Given the description of an element on the screen output the (x, y) to click on. 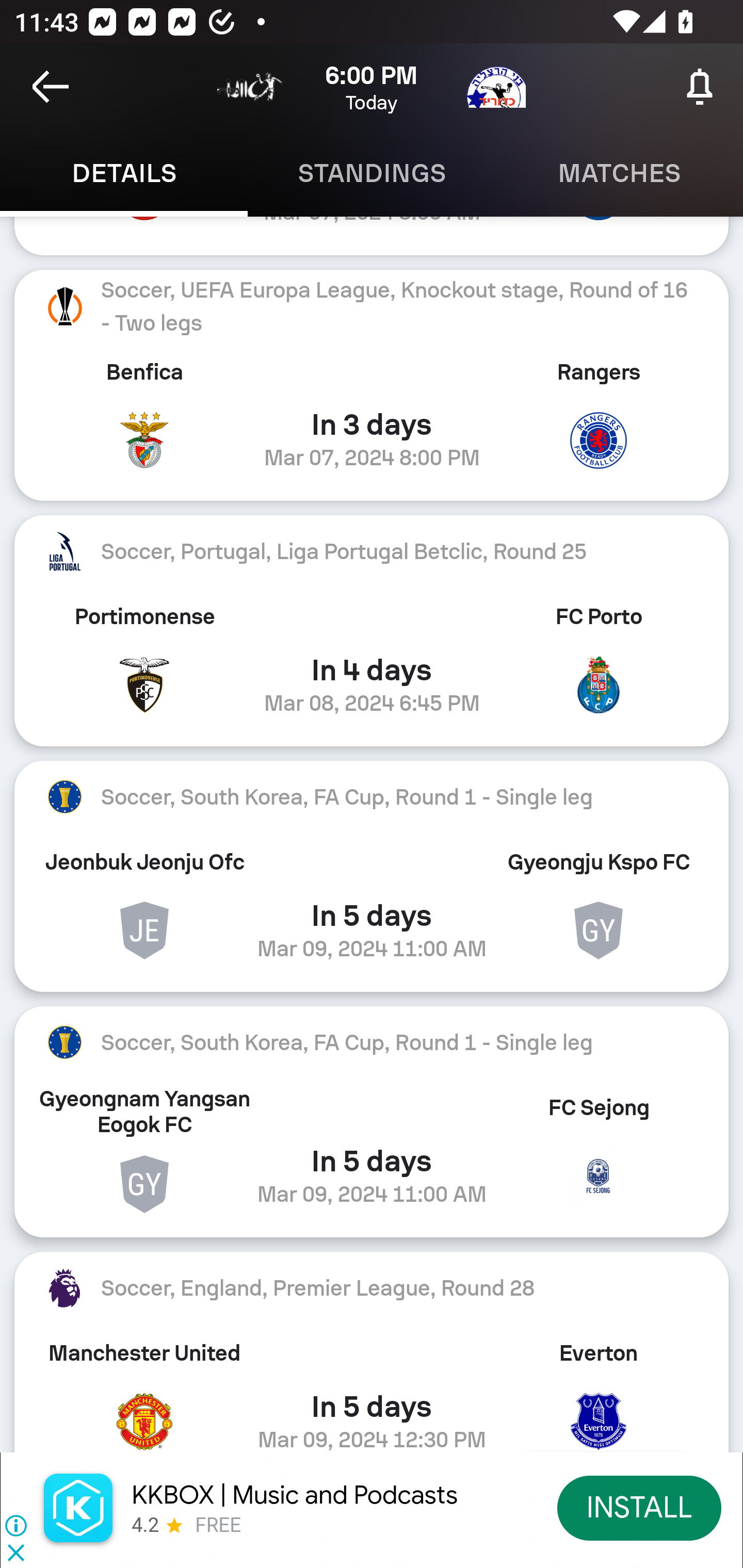
Navigate up (50, 86)
Standings STANDINGS (371, 173)
Matches MATCHES (619, 173)
Soccer, Portugal, Liga Portugal Betclic, Round 25 (371, 551)
Soccer, South Korea, FA Cup, Round 1 - Single leg (371, 796)
Soccer, South Korea, FA Cup, Round 1 - Single leg (371, 1042)
Soccer, England, Premier League, Round 28 (371, 1287)
INSTALL (639, 1507)
KKBOX | Music and Podcasts (294, 1494)
